Given the description of an element on the screen output the (x, y) to click on. 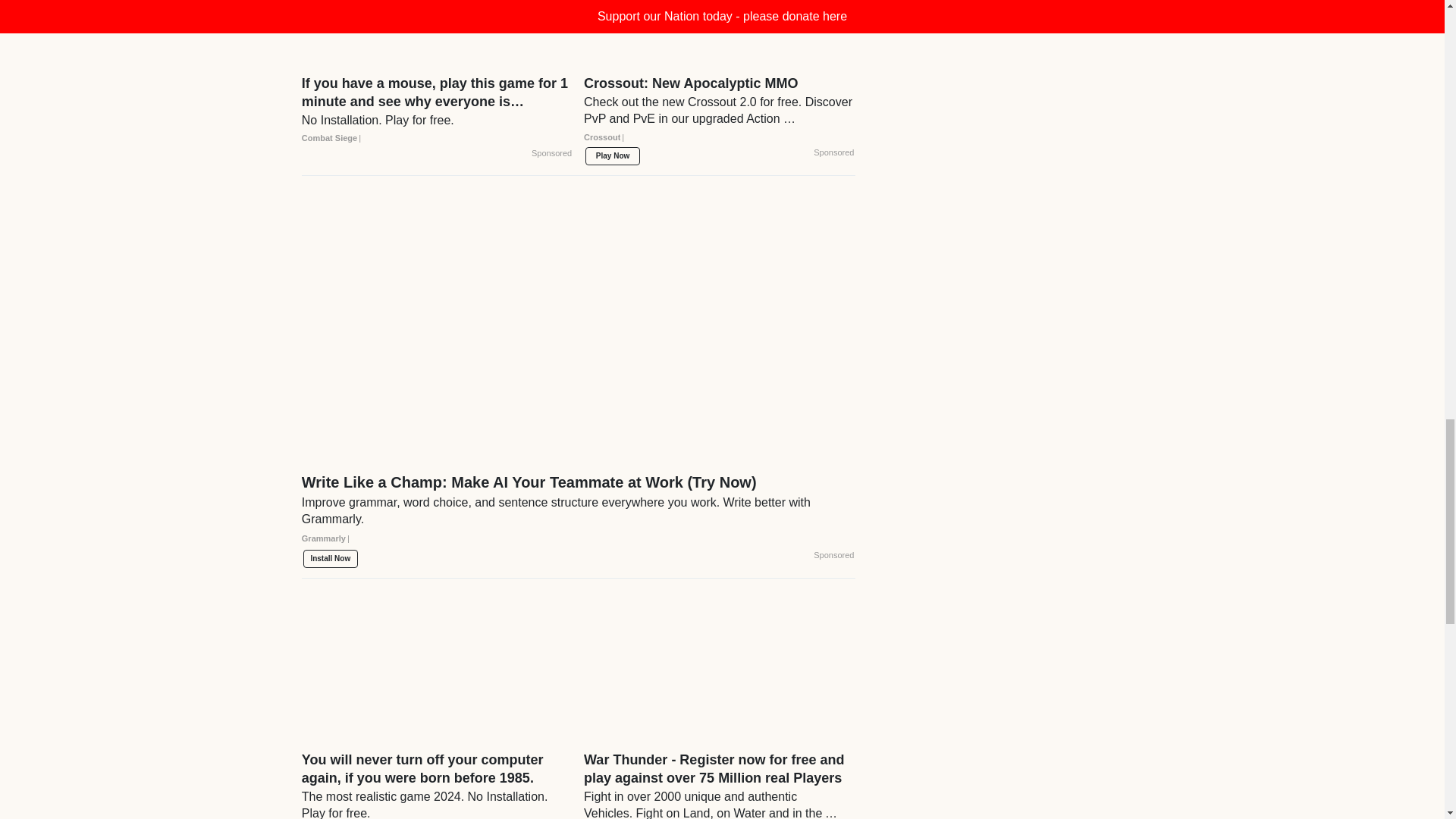
Sponsored (833, 153)
Sponsored (551, 153)
Play Now (612, 156)
Crossout: New Apocalyptic MMO (718, 115)
